Given the description of an element on the screen output the (x, y) to click on. 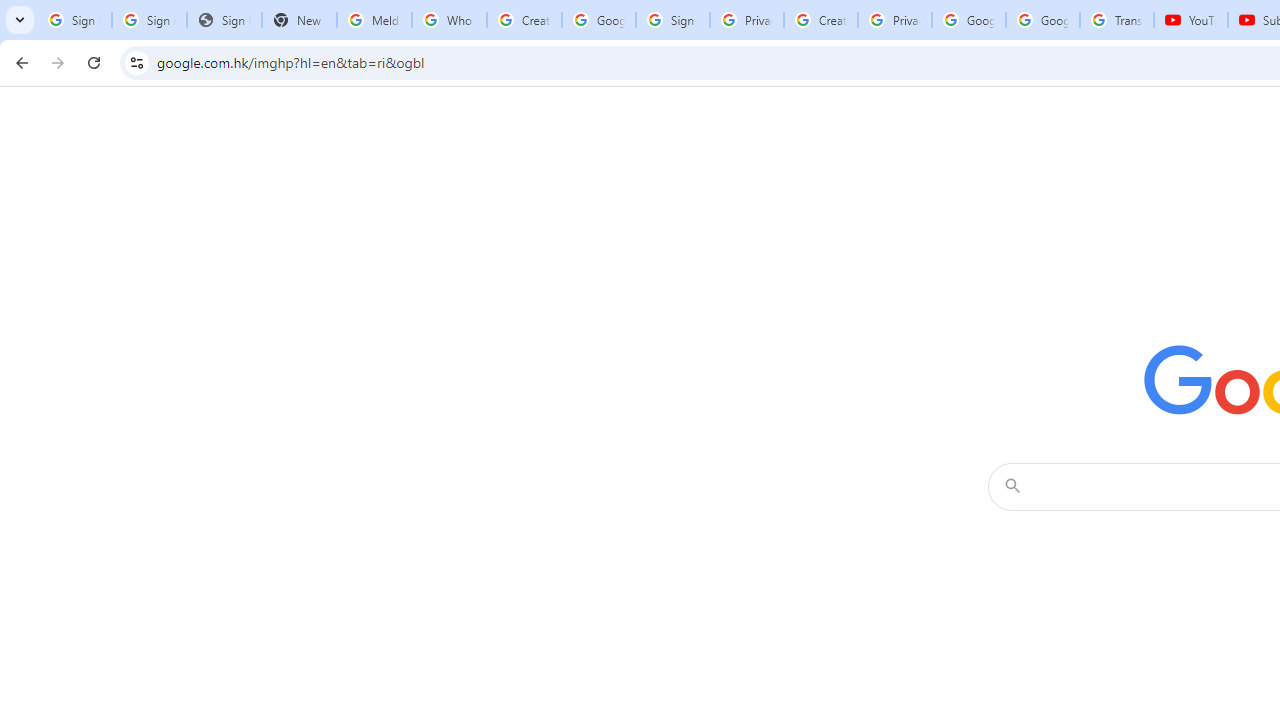
New Tab (299, 20)
Search tabs (20, 20)
YouTube (1190, 20)
Google Account (1043, 20)
System (10, 11)
Sign in - Google Accounts (148, 20)
